Given the description of an element on the screen output the (x, y) to click on. 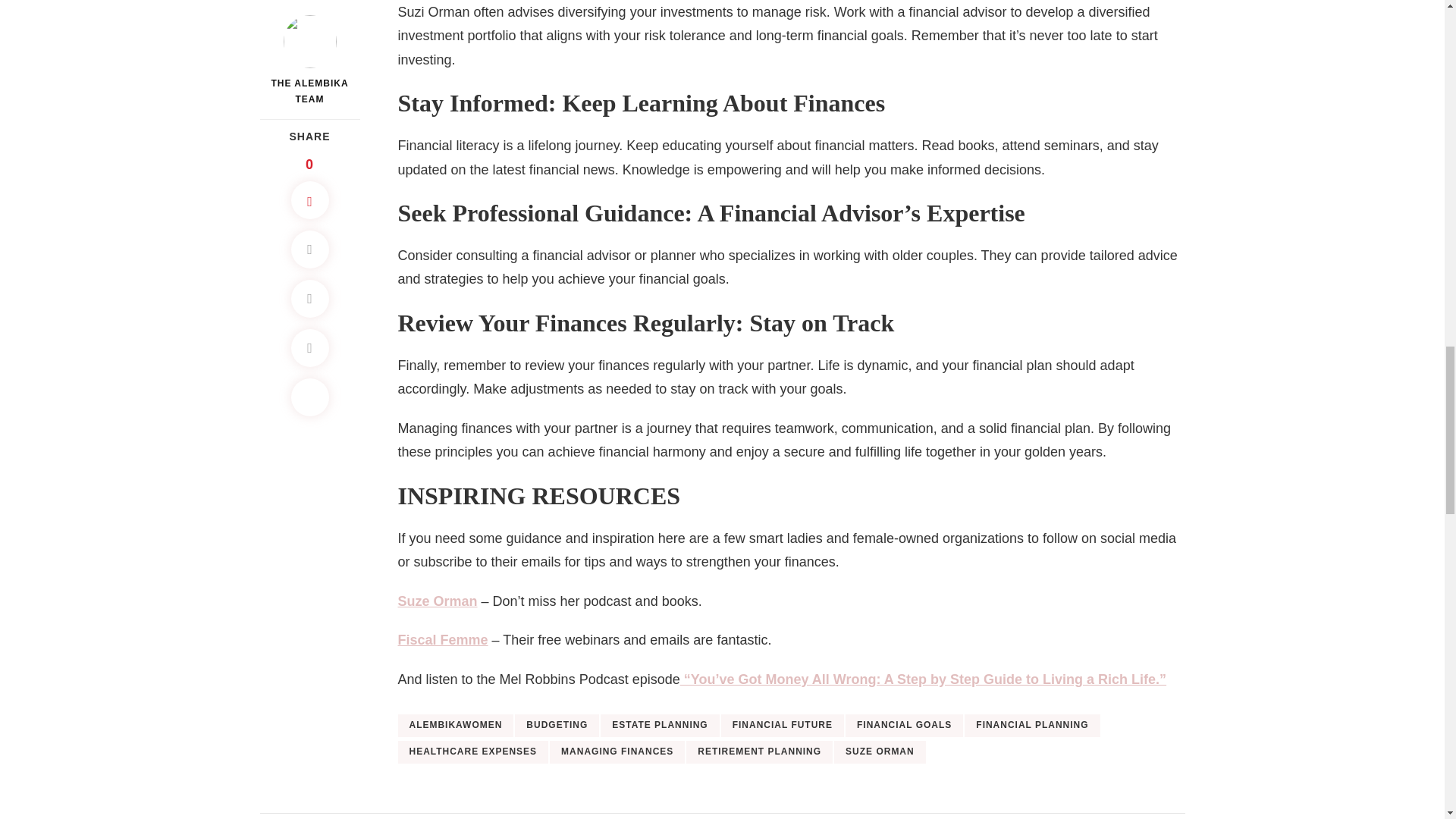
Suze Orman (437, 601)
FINANCIAL GOALS (903, 725)
FINANCIAL FUTURE (782, 725)
BUDGETING (556, 725)
MANAGING FINANCES (617, 752)
Fiscal Femme (442, 639)
FINANCIAL PLANNING (1031, 725)
HEALTHCARE EXPENSES (472, 752)
ALEMBIKAWOMEN (455, 725)
ESTATE PLANNING (659, 725)
